Given the description of an element on the screen output the (x, y) to click on. 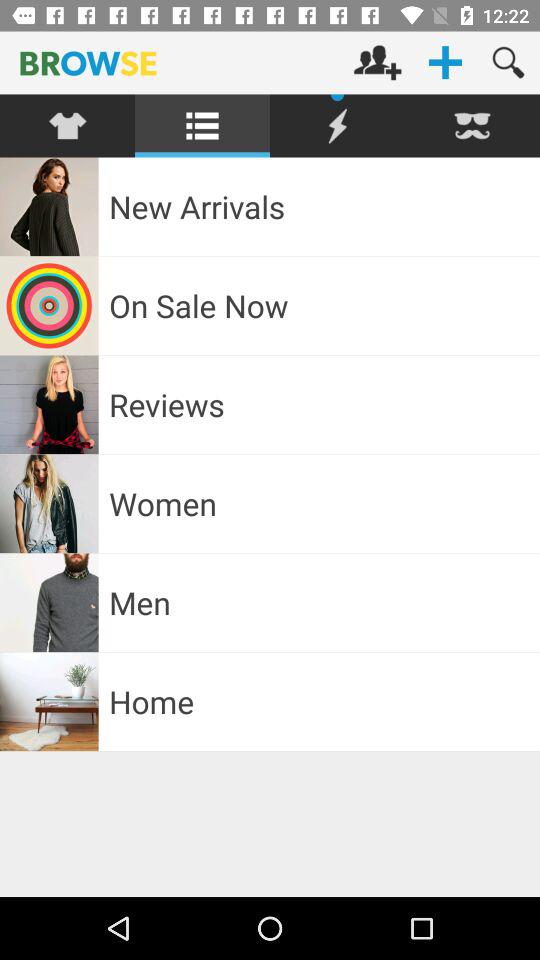
go to sales off (337, 125)
